Given the description of an element on the screen output the (x, y) to click on. 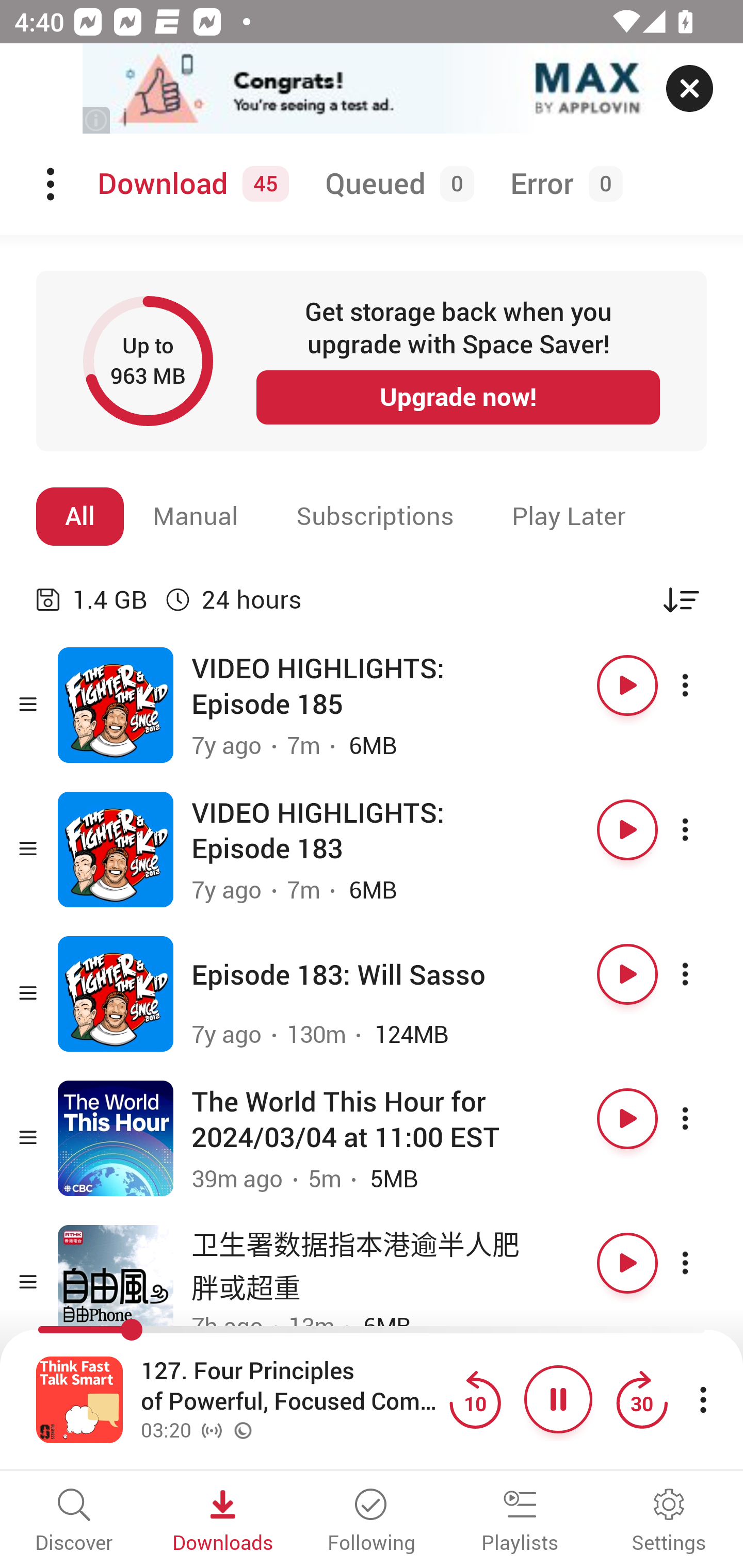
app-monetization (371, 88)
(i) (96, 119)
Menu (52, 184)
 Download 45 (189, 184)
 Queued 0 (396, 184)
 Error 0 (562, 184)
All (80, 516)
Manual (195, 516)
Subscriptions (374, 516)
Play Later (568, 516)
Change sort order (681, 599)
Play button (627, 685)
More options (703, 685)
Open series The Fighter & The Kid (115, 705)
Play button (627, 830)
More options (703, 830)
Open series The Fighter & The Kid (115, 849)
Play button (627, 974)
More options (703, 974)
Open series The Fighter & The Kid (115, 994)
Play button (627, 1118)
More options (703, 1118)
Open series The World This Hour (115, 1138)
Play button (627, 1263)
More options (703, 1263)
Open series 自由风自由PHONE (115, 1282)
Open fullscreen player (79, 1399)
More player controls (703, 1399)
Pause button (558, 1398)
Jump back (475, 1399)
Jump forward (641, 1399)
Discover (74, 1521)
Downloads (222, 1521)
Following (371, 1521)
Playlists (519, 1521)
Settings (668, 1521)
